Given the description of an element on the screen output the (x, y) to click on. 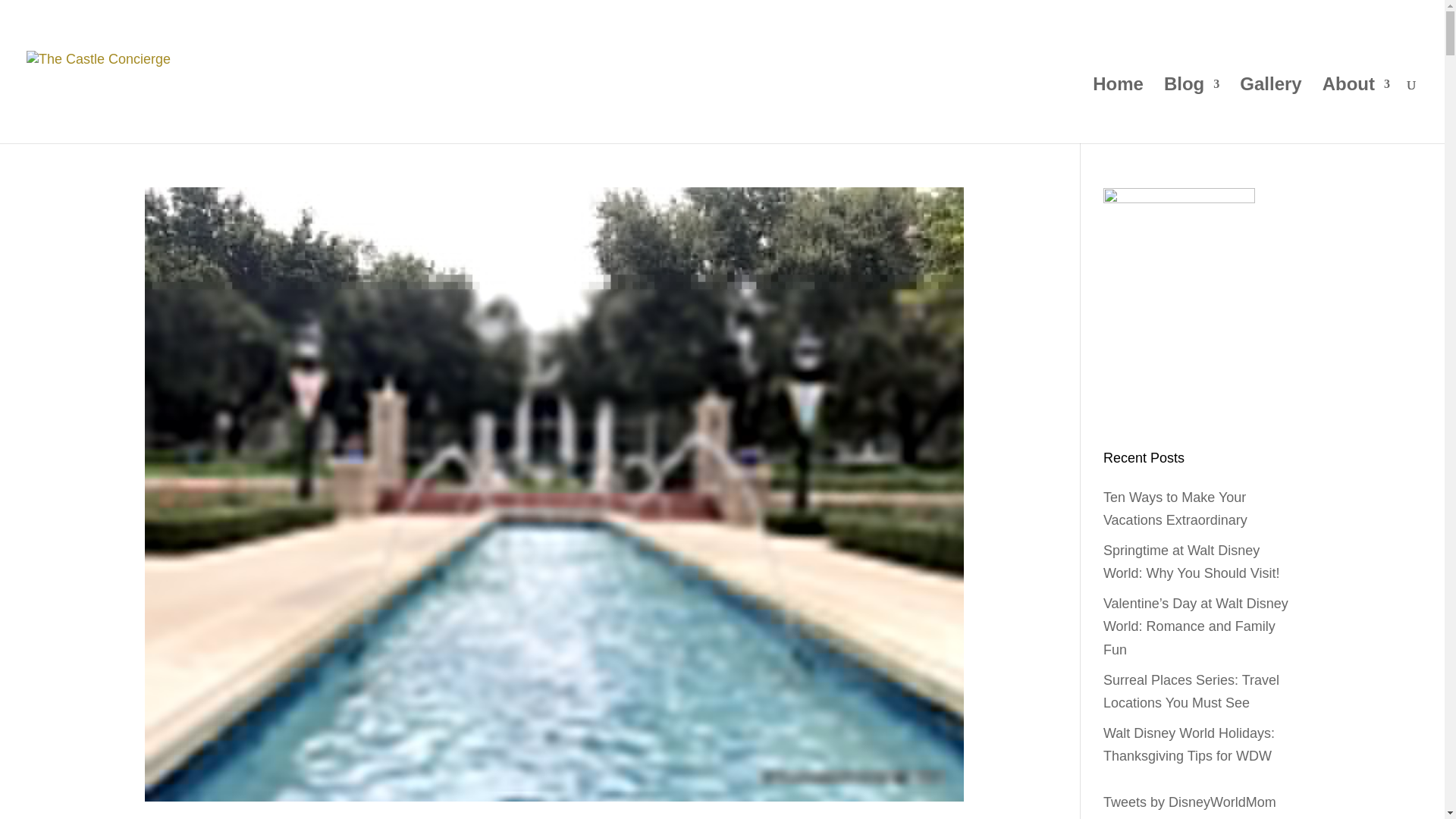
Contact The Castle Concierge (1149, 14)
About (1356, 110)
Gallery (1270, 110)
Meet the Team (1039, 14)
Newsletter Sign Up for The Castle Concierge (1325, 14)
